Given the description of an element on the screen output the (x, y) to click on. 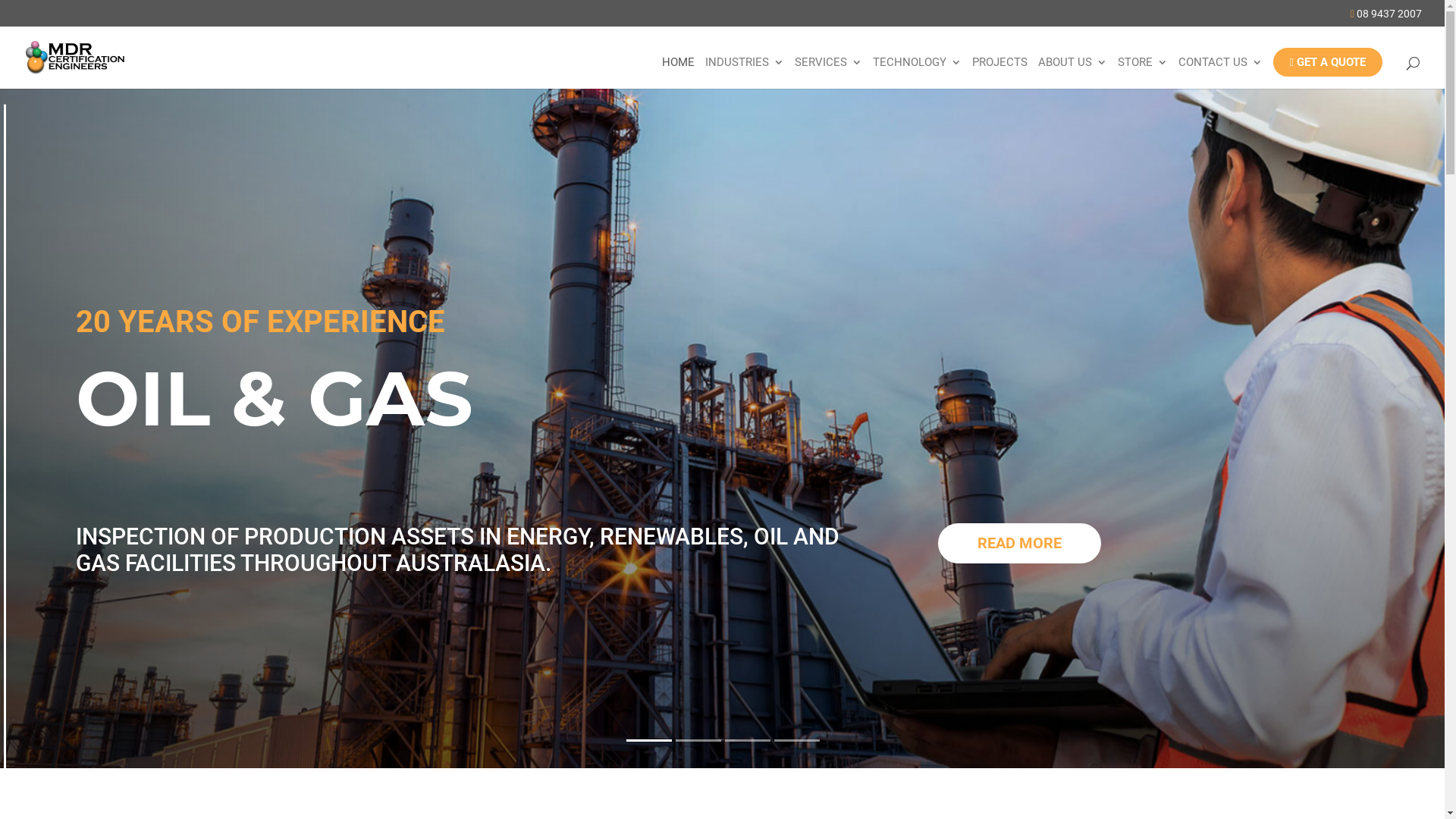
PROJECTS Element type: text (999, 72)
HOME Element type: text (678, 72)
SERVICES Element type: text (828, 72)
ABOUT US Element type: text (1072, 72)
CONTACT US Element type: text (1220, 72)
GET A QUOTE Element type: text (1327, 61)
08 9437 2007 Element type: text (1385, 16)
TECHNOLOGY Element type: text (916, 72)
STORE Element type: text (1142, 72)
READ MORE Element type: text (1019, 543)
INDUSTRIES Element type: text (744, 72)
